Given the description of an element on the screen output the (x, y) to click on. 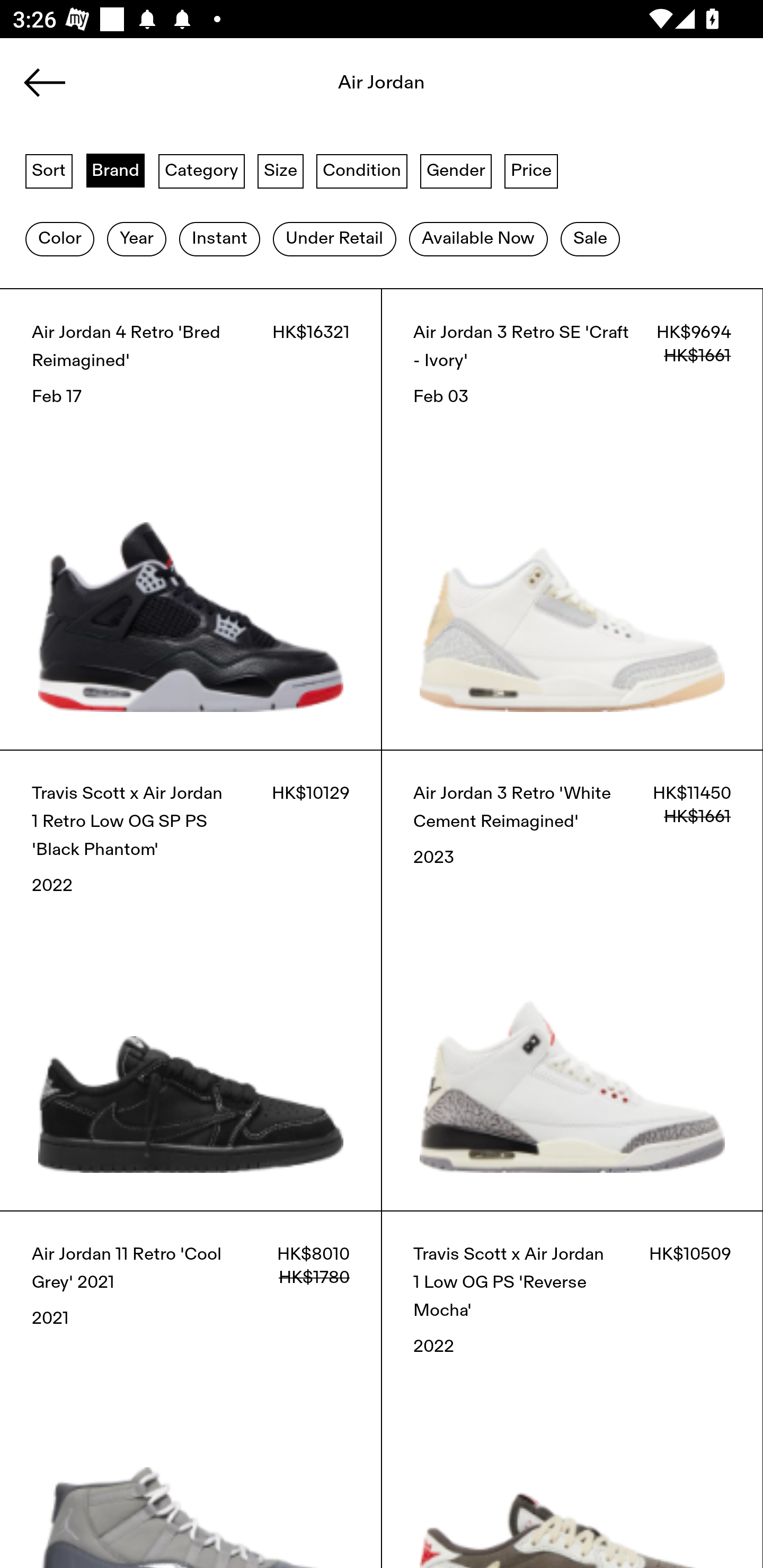
Sort (48, 170)
Brand (115, 170)
Category (201, 170)
Size (280, 170)
Condition (361, 170)
Gender (455, 170)
Price (530, 170)
Color (59, 239)
Year (136, 239)
Instant (219, 239)
Under Retail (334, 239)
Available Now (477, 239)
Sale (589, 239)
